Given the description of an element on the screen output the (x, y) to click on. 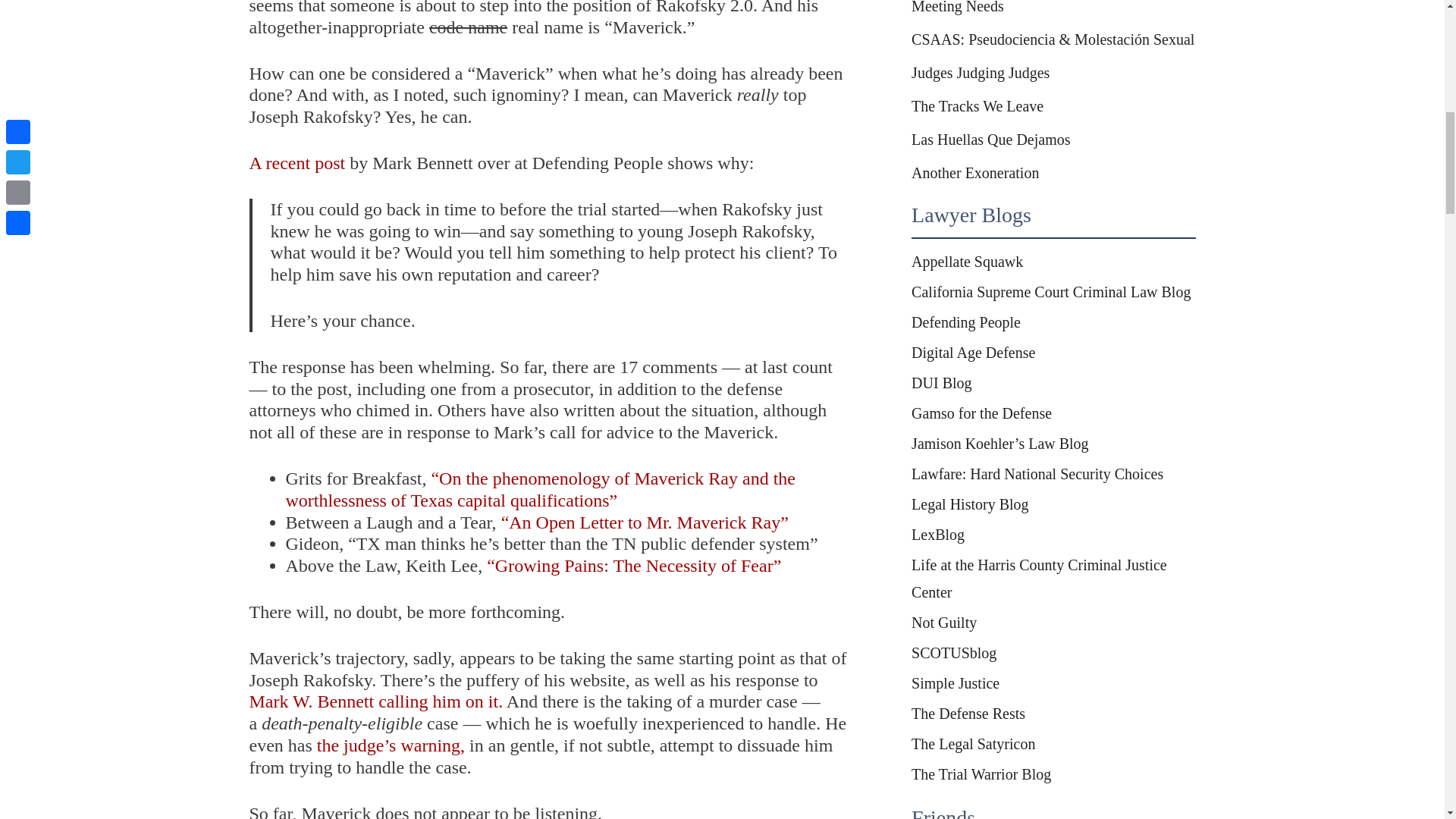
Unmockable (375, 701)
Mark W. Bennett calling him on it. (375, 701)
A Rakofsky Do-Over (296, 162)
A recent post (296, 162)
Growing Pains: The Necessity of Fear (633, 565)
Reduced bail for murder suspect denied (390, 745)
AN OPEN LETTER TO MR. MAVERICK RAY (644, 522)
